Given the description of an element on the screen output the (x, y) to click on. 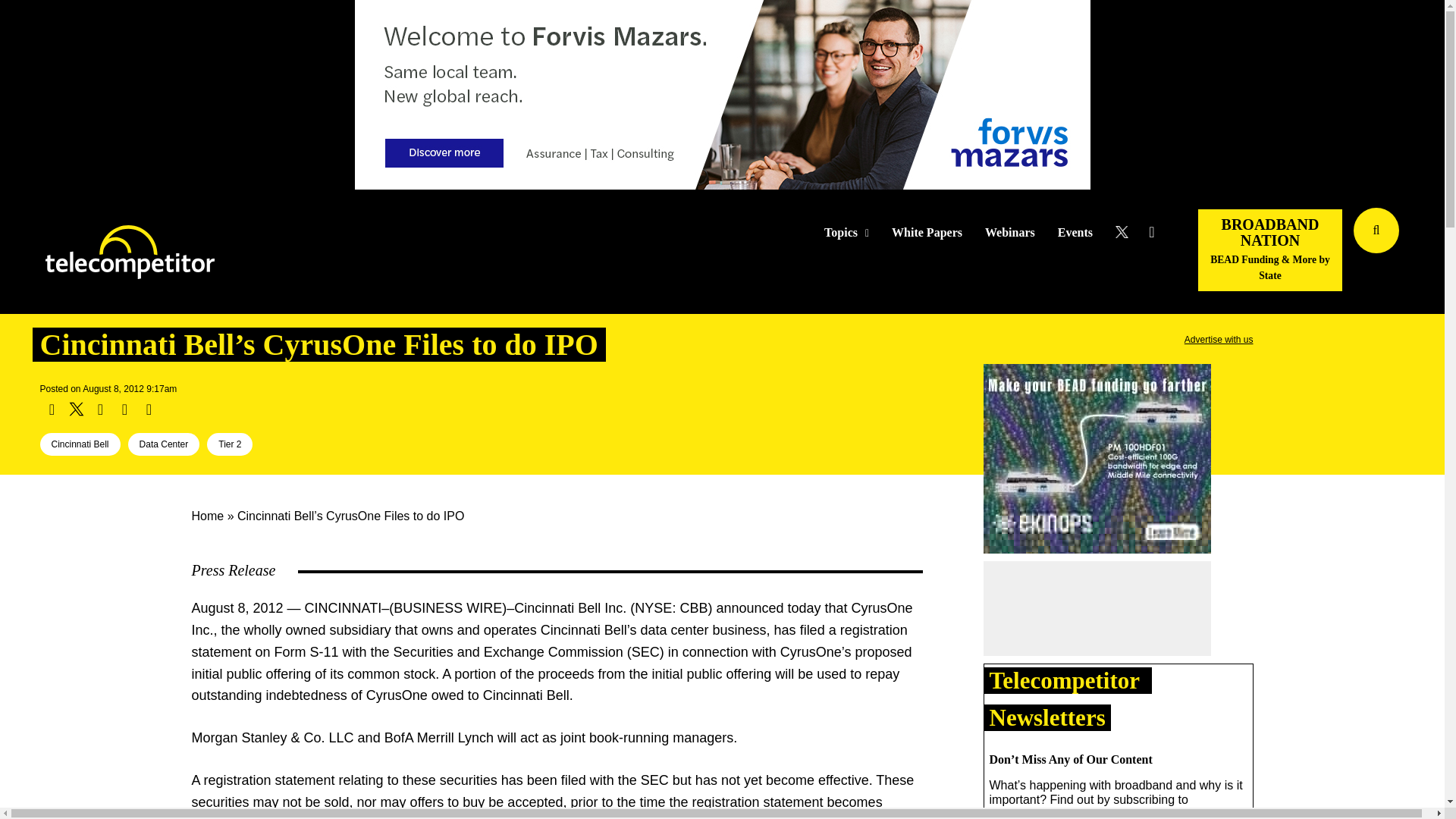
Pinterest (124, 409)
Share on Linked In (99, 409)
Spread the word on Twitter (75, 409)
Share on Facebook (51, 409)
Topics (846, 232)
Follow Us on LinkedIN (1151, 232)
Webinars (1010, 232)
Search (1430, 253)
Follow Us on Twitter (1127, 232)
White Papers (927, 232)
